Given the description of an element on the screen output the (x, y) to click on. 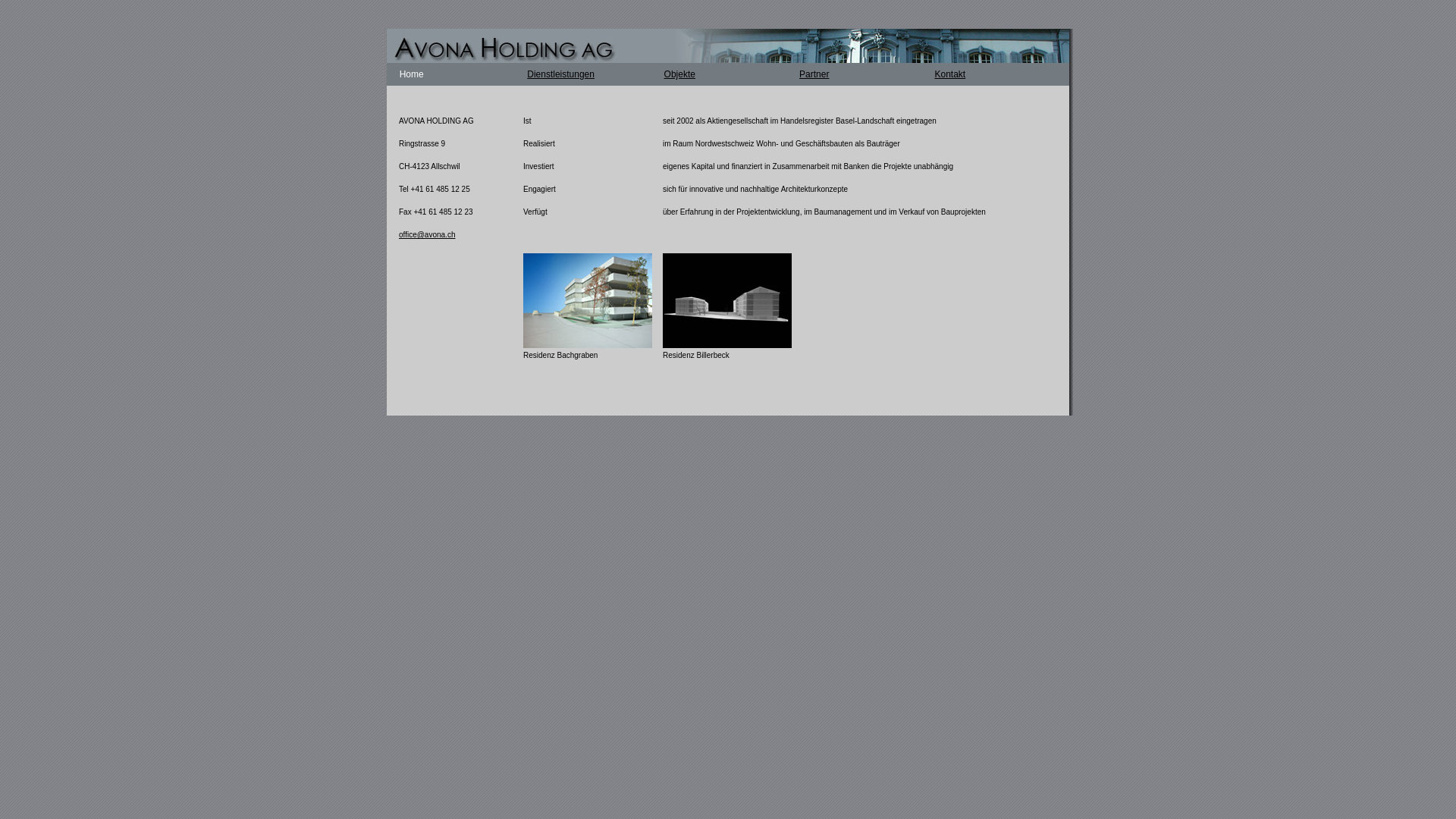
Dienstleistungen Element type: text (560, 74)
Partner Element type: text (813, 74)
Kontakt Element type: text (949, 74)
office@avona.ch Element type: text (426, 234)
Objekte Element type: text (679, 74)
Home Element type: text (411, 74)
